Given the description of an element on the screen output the (x, y) to click on. 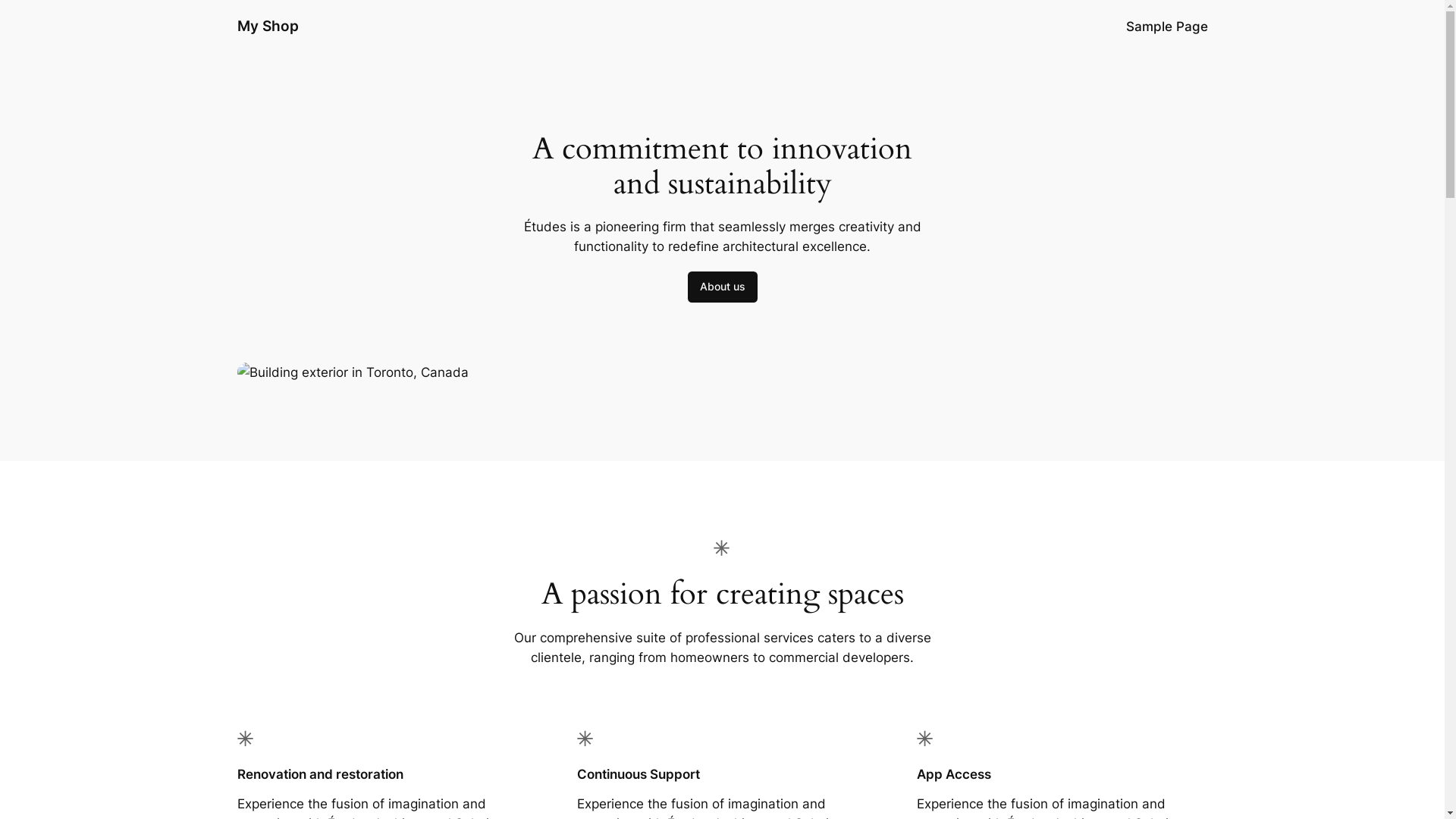
My Shop Element type: text (267, 25)
Sample Page Element type: text (1166, 26)
About us Element type: text (721, 287)
